Given the description of an element on the screen output the (x, y) to click on. 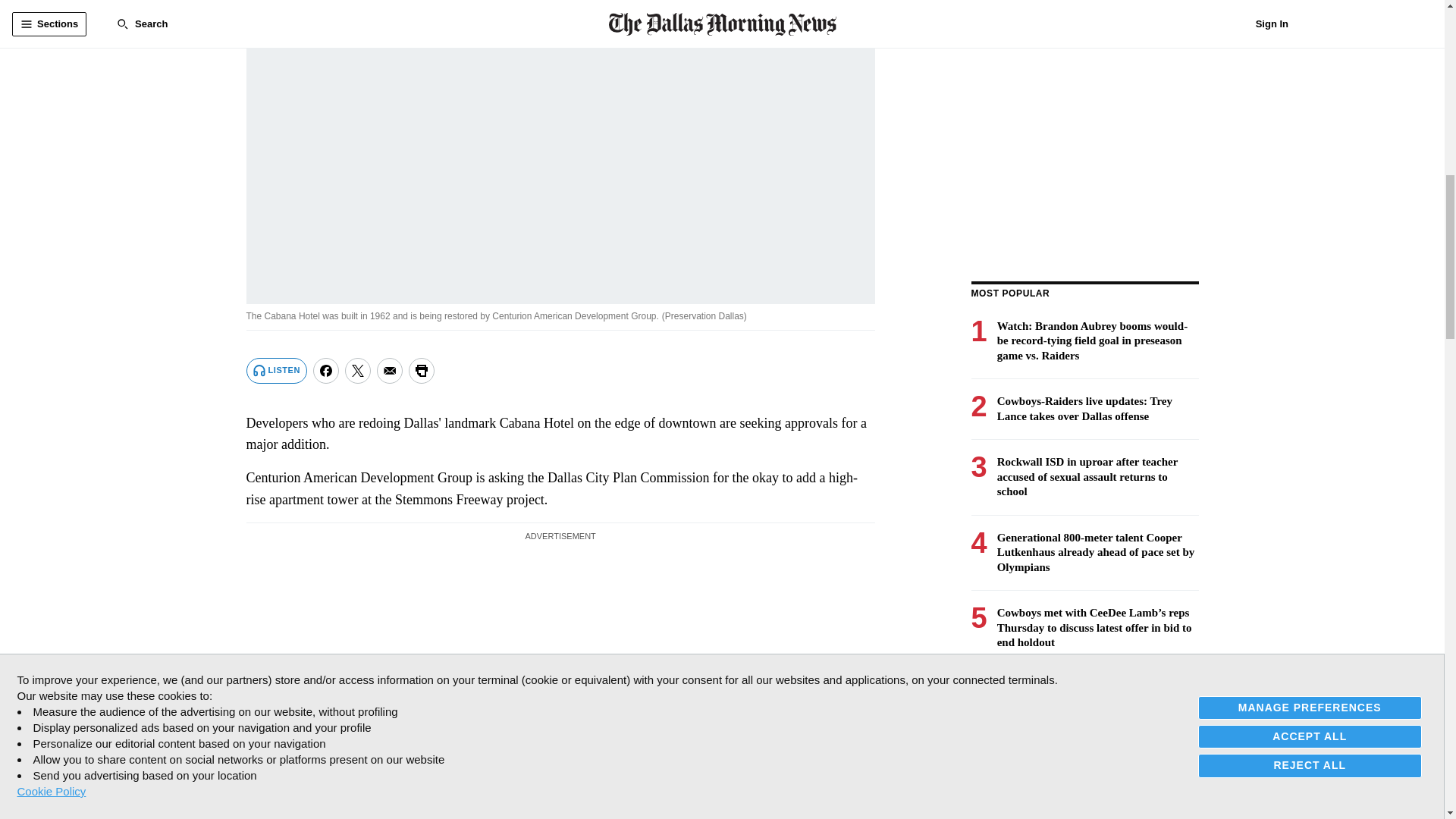
Share on Twitter (358, 370)
Print (421, 370)
Share on Facebook (326, 370)
Share via Email (390, 370)
